Given the description of an element on the screen output the (x, y) to click on. 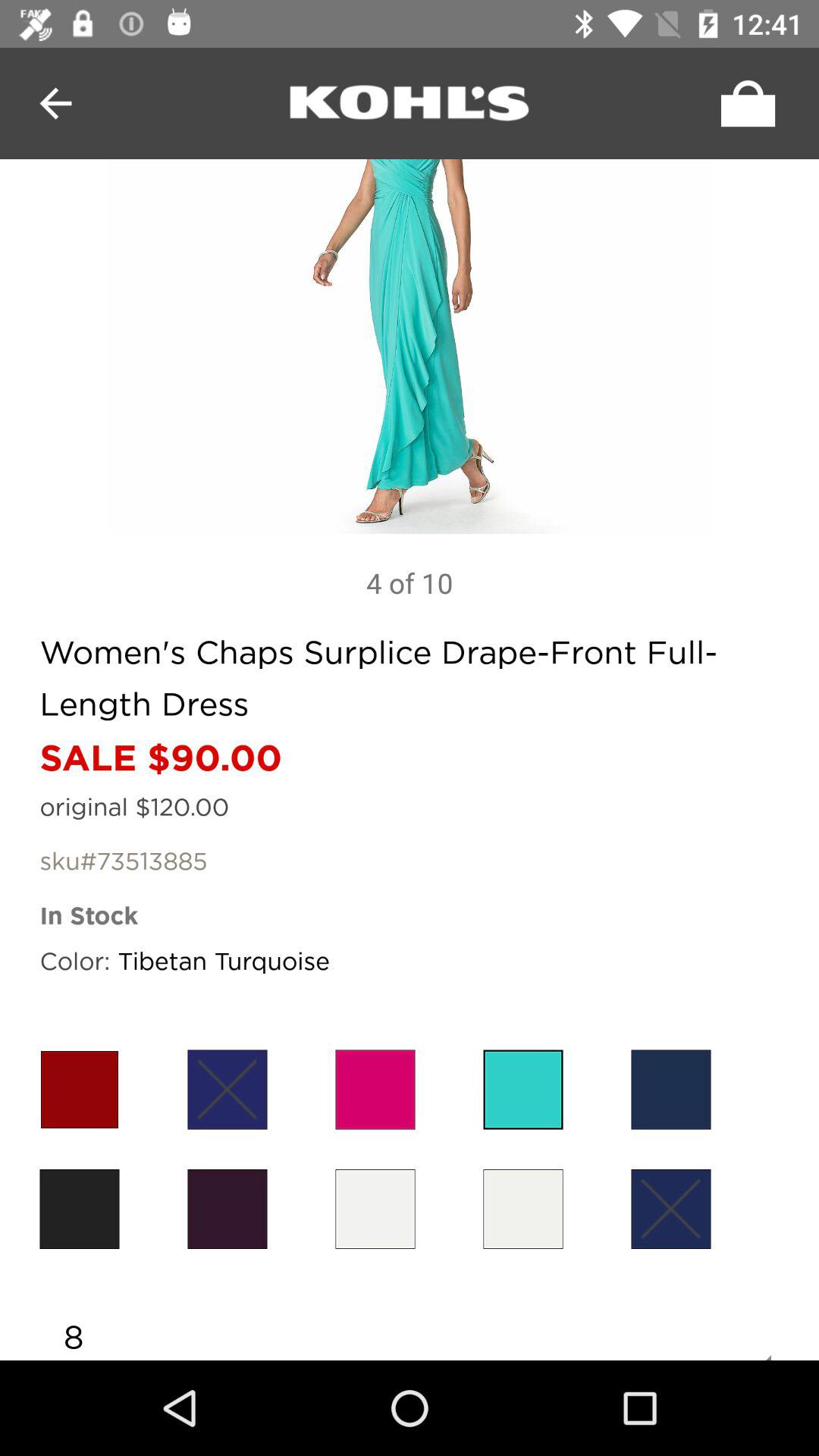
go to purple (227, 1089)
